Given the description of an element on the screen output the (x, y) to click on. 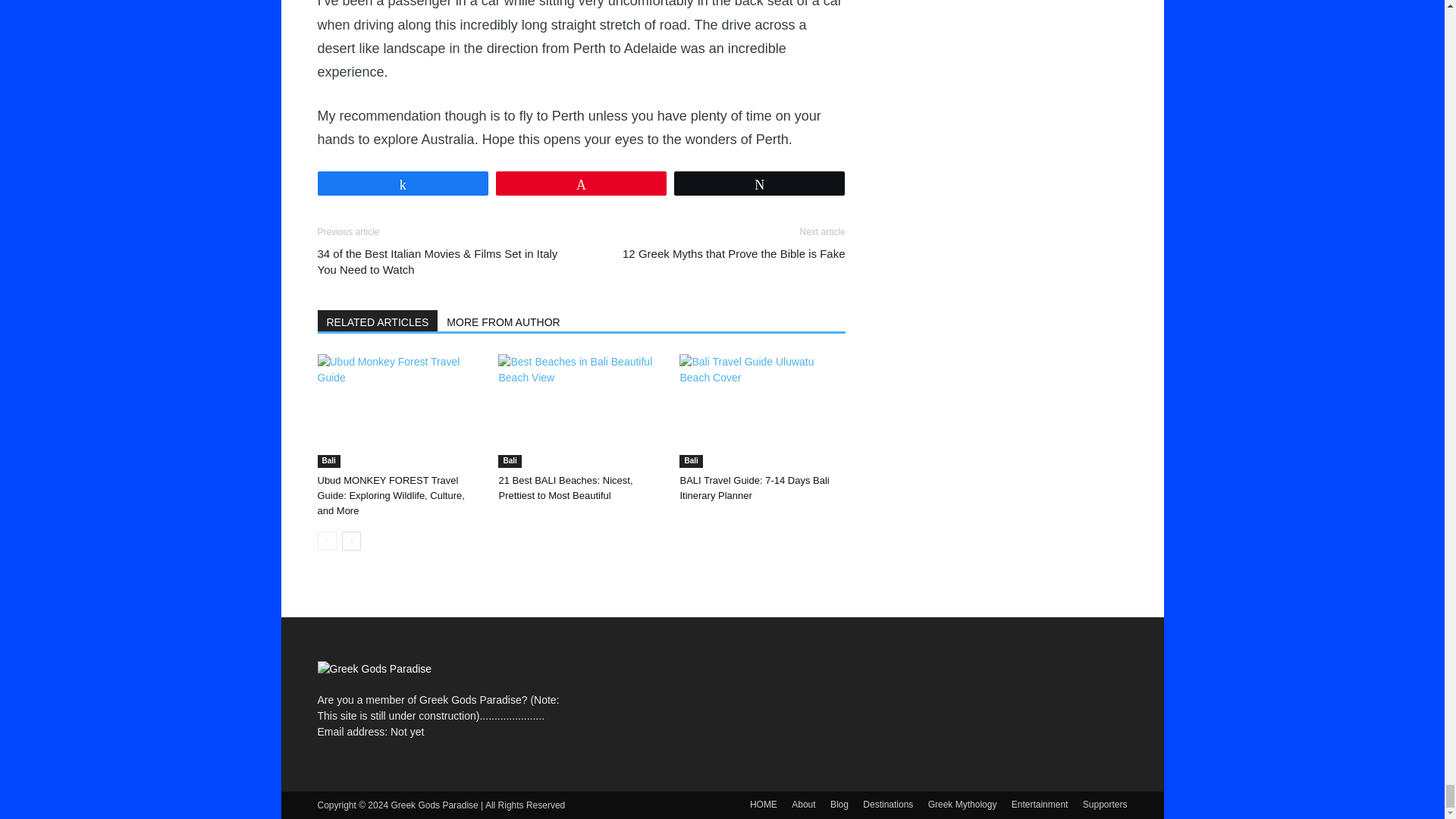
21 Best BALI Beaches: Nicest, Prettiest to Most Beautiful (580, 410)
